Given the description of an element on the screen output the (x, y) to click on. 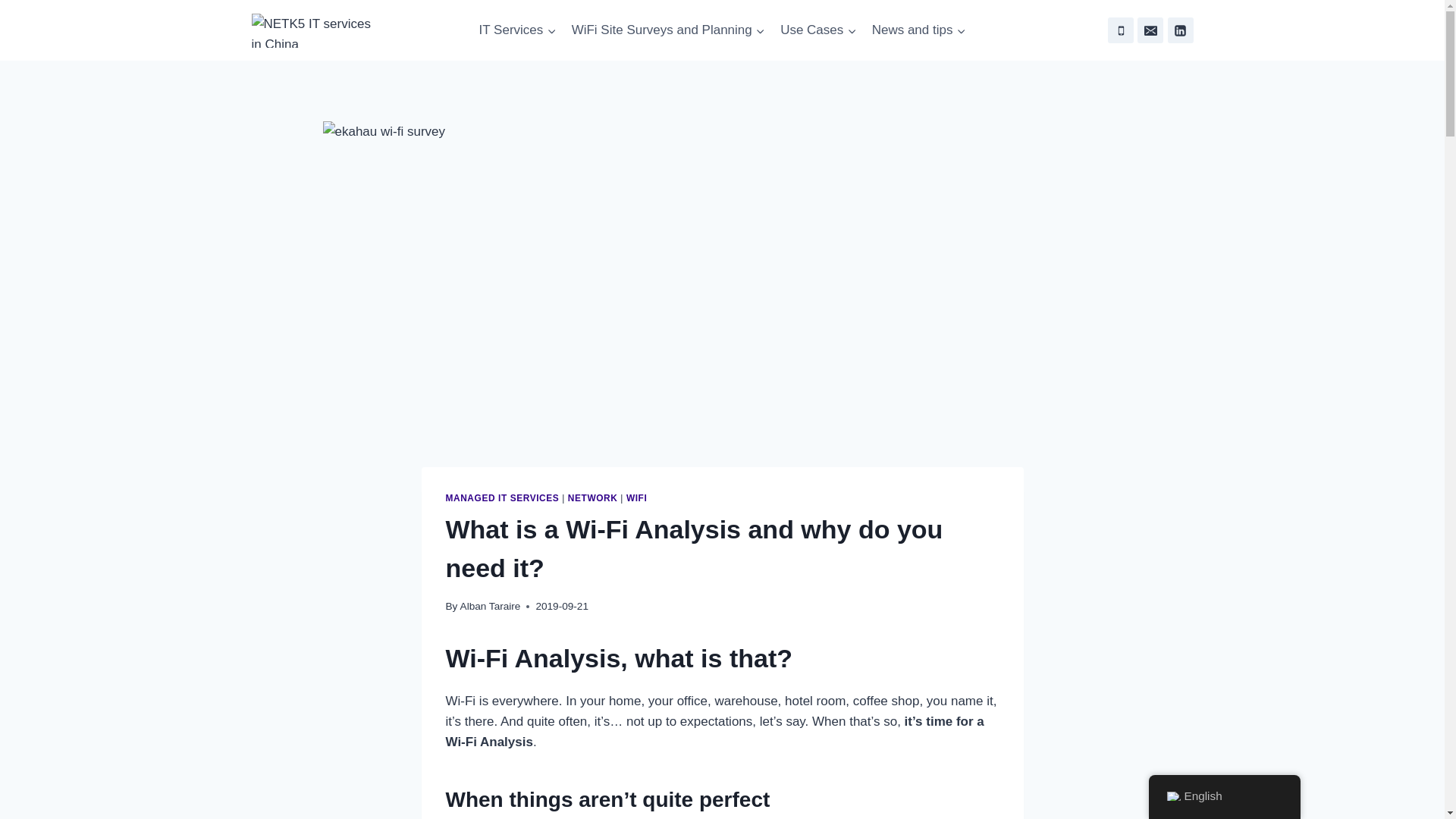
WiFi Site Surveys and Planning (667, 30)
English (1172, 795)
News and tips (917, 30)
WIFI (636, 498)
NETWORK (592, 498)
IT Services (516, 30)
Use Cases (818, 30)
Alban Taraire (490, 605)
MANAGED IT SERVICES (502, 498)
